Given the description of an element on the screen output the (x, y) to click on. 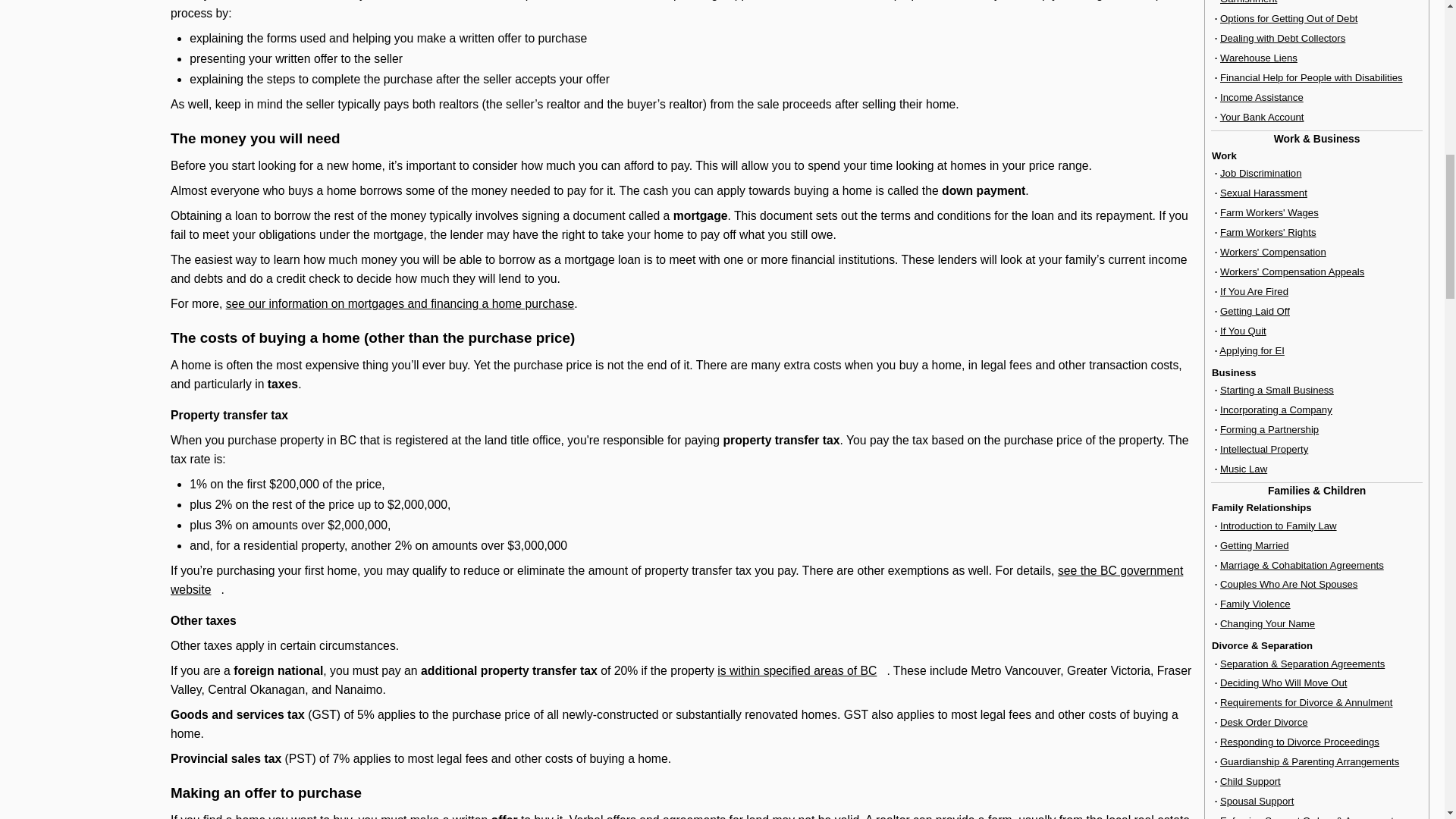
Job Discrimination (1260, 173)
Garnishment (1248, 2)
Sexual Harassment (1263, 193)
Your Bank Account (1262, 116)
Workers' Compensation (1273, 251)
Financial Help for People with Disabilities (1311, 77)
Options for Getting Out of Debt (1288, 18)
Farm Workers' Wages (1269, 212)
Workers' Compensation Appeals (1292, 271)
Income Assistance (1261, 97)
